Given the description of an element on the screen output the (x, y) to click on. 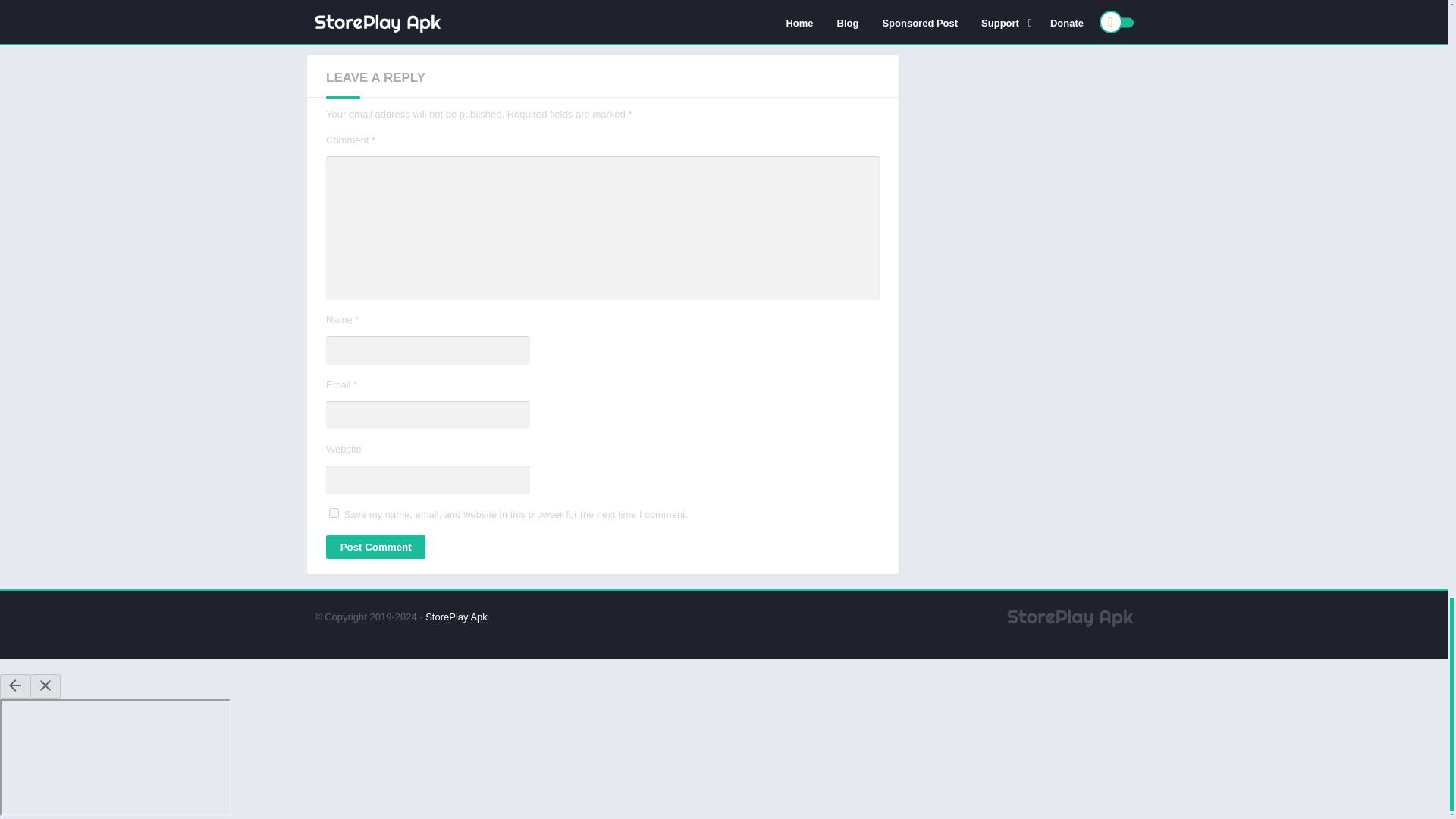
Post Comment (375, 546)
yes (334, 512)
